Given the description of an element on the screen output the (x, y) to click on. 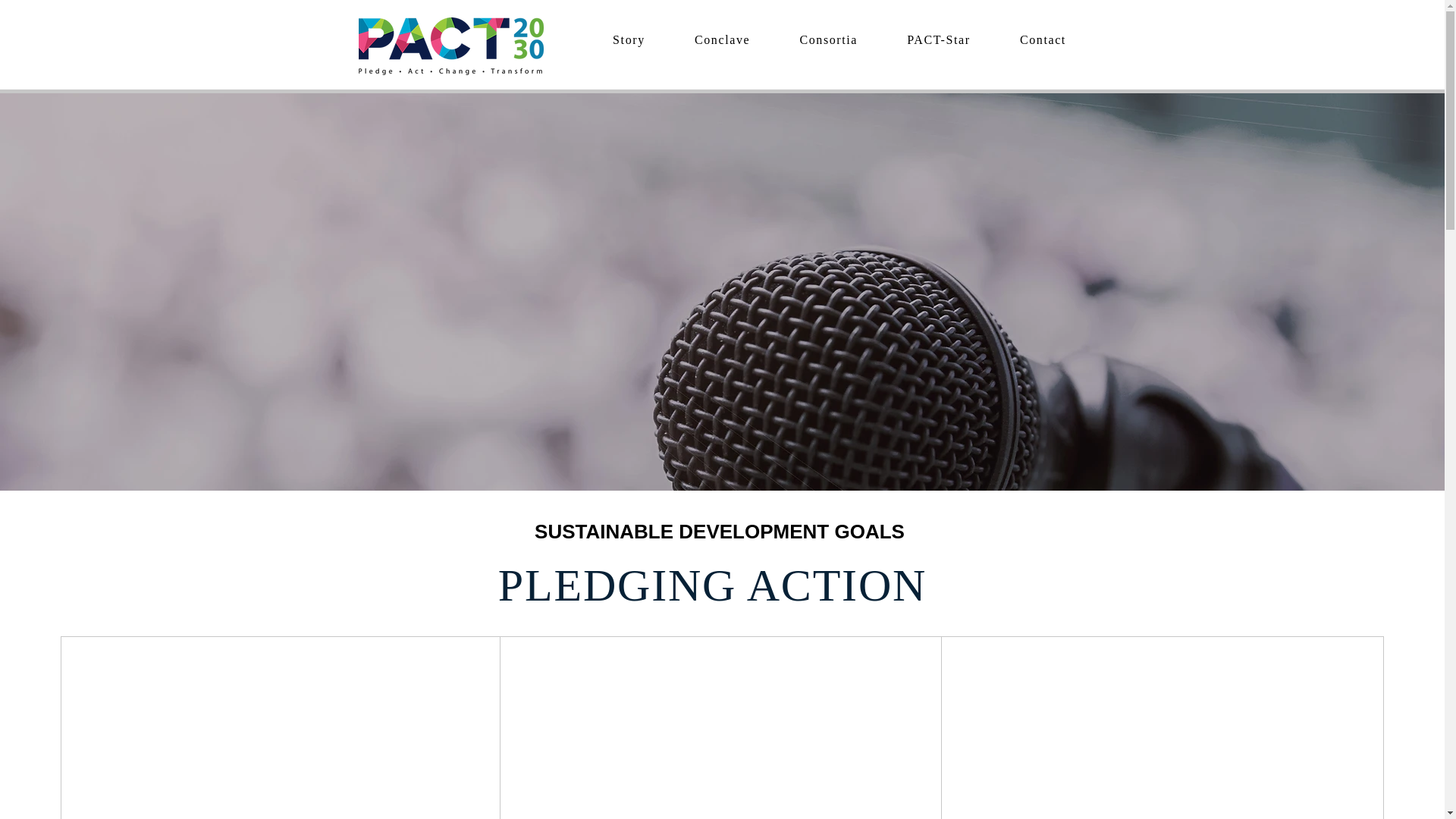
PACT-Star (938, 39)
Consortia (828, 39)
Contact (1042, 39)
Conclave (721, 39)
PACT2030 logo FINAL.png (450, 46)
Story (628, 39)
